Given the description of an element on the screen output the (x, y) to click on. 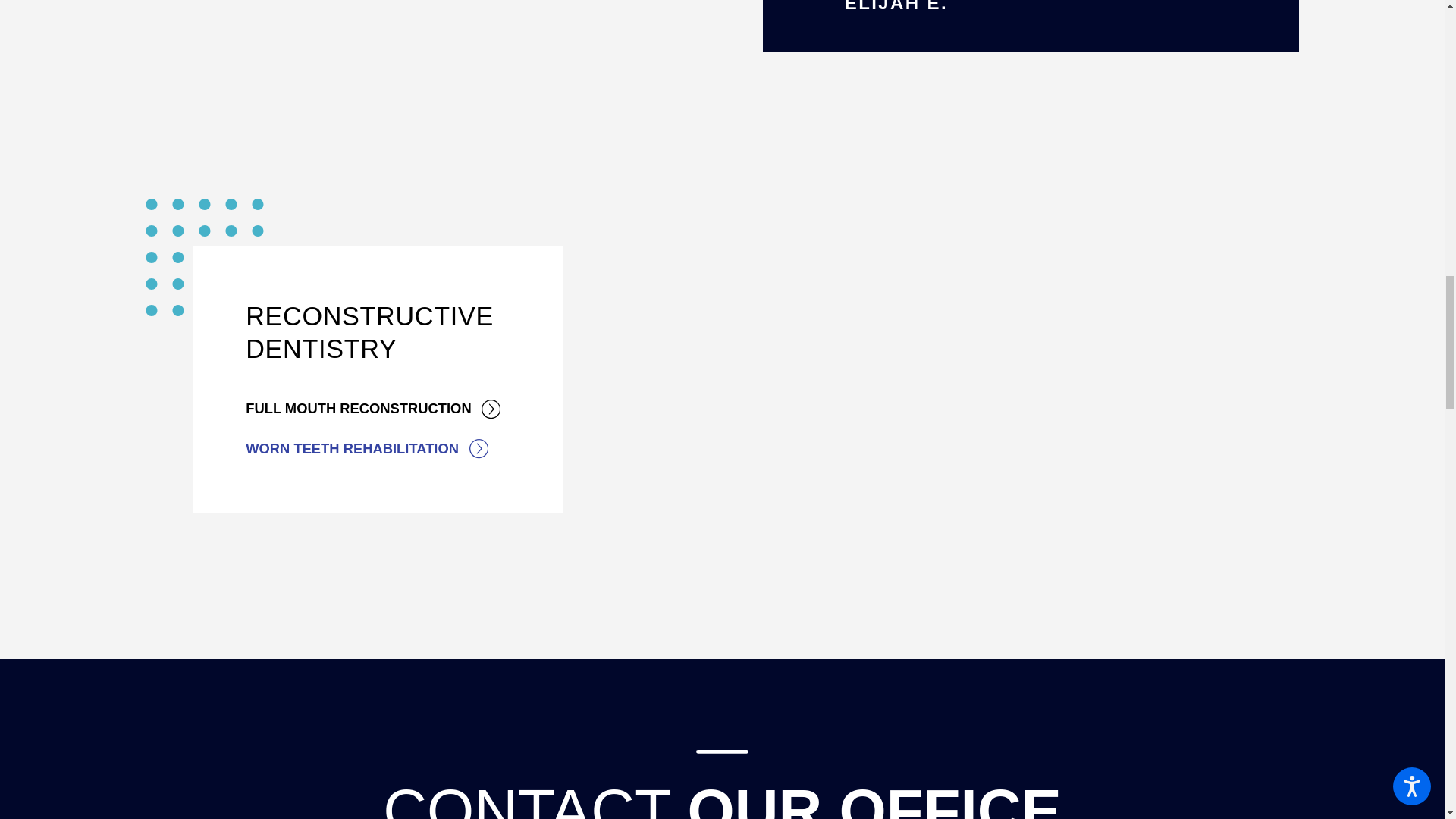
Arrow (490, 408)
Arrow (477, 447)
